Given the description of an element on the screen output the (x, y) to click on. 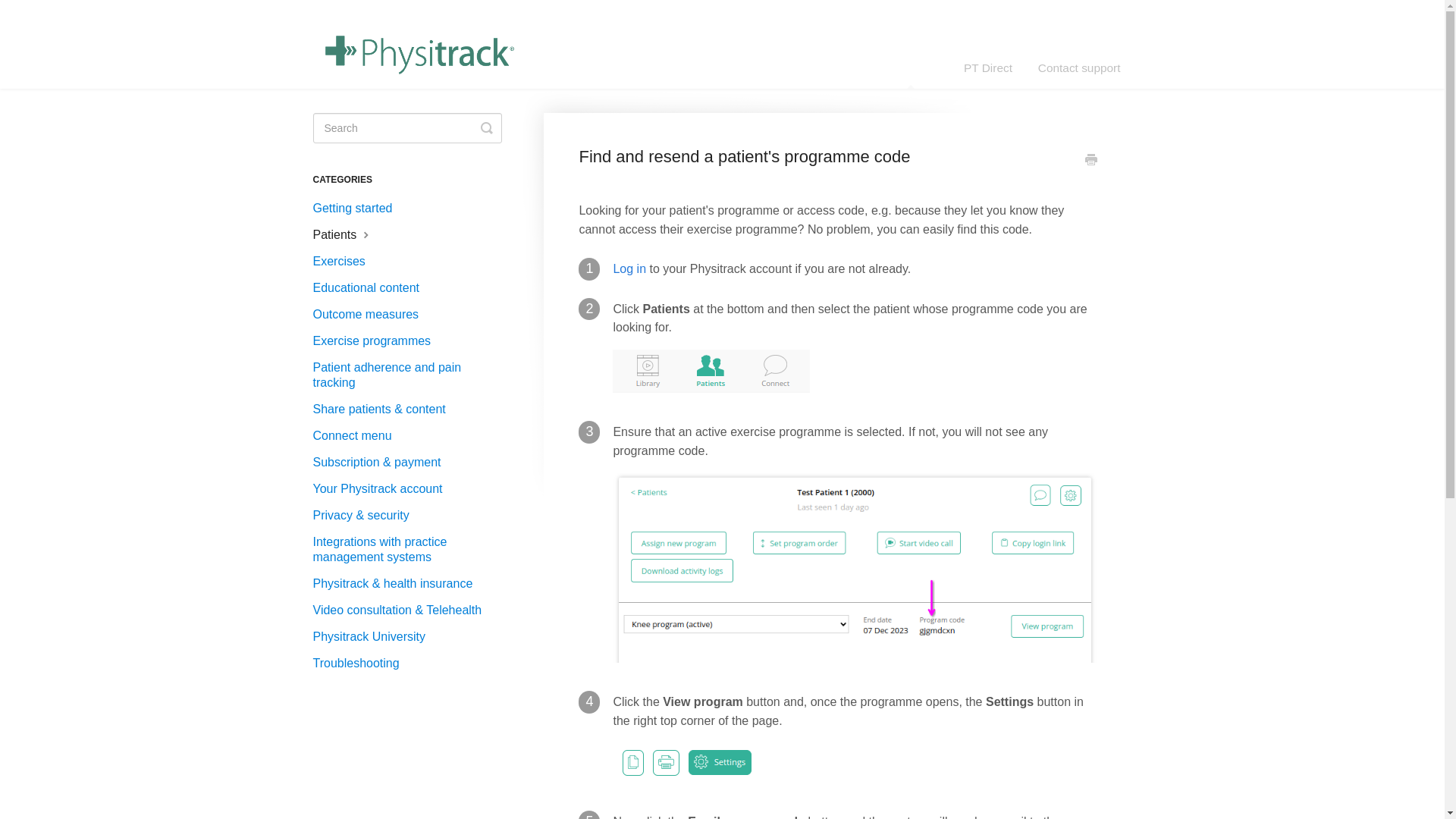
search-query (406, 128)
Connect menu (358, 435)
Integrations with practice management systems (412, 549)
Your Physitrack account (382, 488)
Troubleshooting (361, 663)
Physitrack (910, 67)
Patient adherence and pain tracking (412, 374)
Exercise programmes (377, 340)
Exercises (344, 261)
Physitrack University (374, 636)
Educational content (371, 288)
Getting started (358, 208)
Contact support (1079, 67)
Log in (629, 268)
Patients (348, 234)
